Given the description of an element on the screen output the (x, y) to click on. 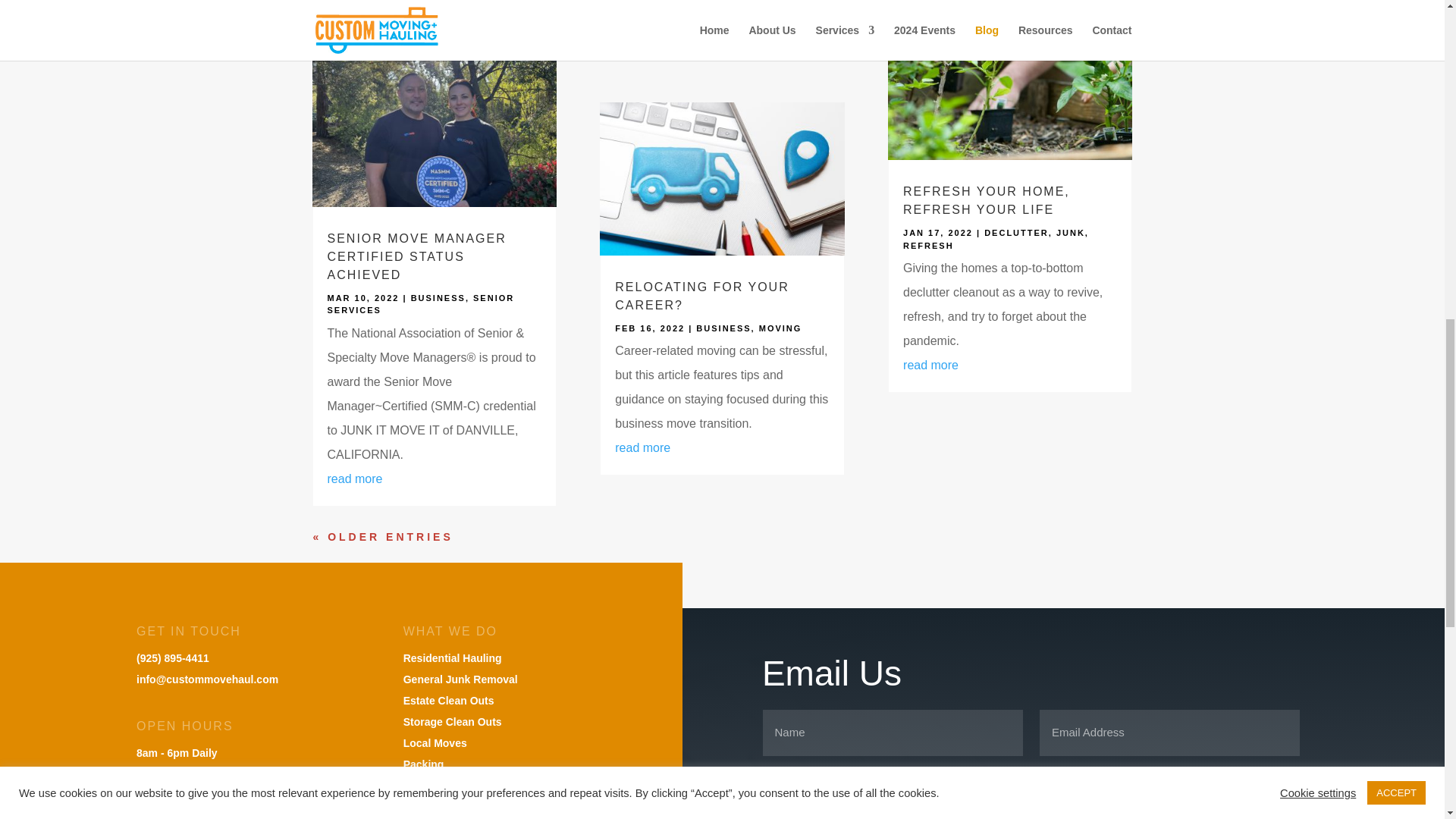
read more (354, 478)
RELOCATING FOR YOUR CAREER? (701, 296)
read more (641, 31)
SENIOR SERVICES (421, 304)
SENIOR MOVE MANAGER CERTIFIED STATUS ACHIEVED (416, 256)
BUSINESS (437, 297)
